Given the description of an element on the screen output the (x, y) to click on. 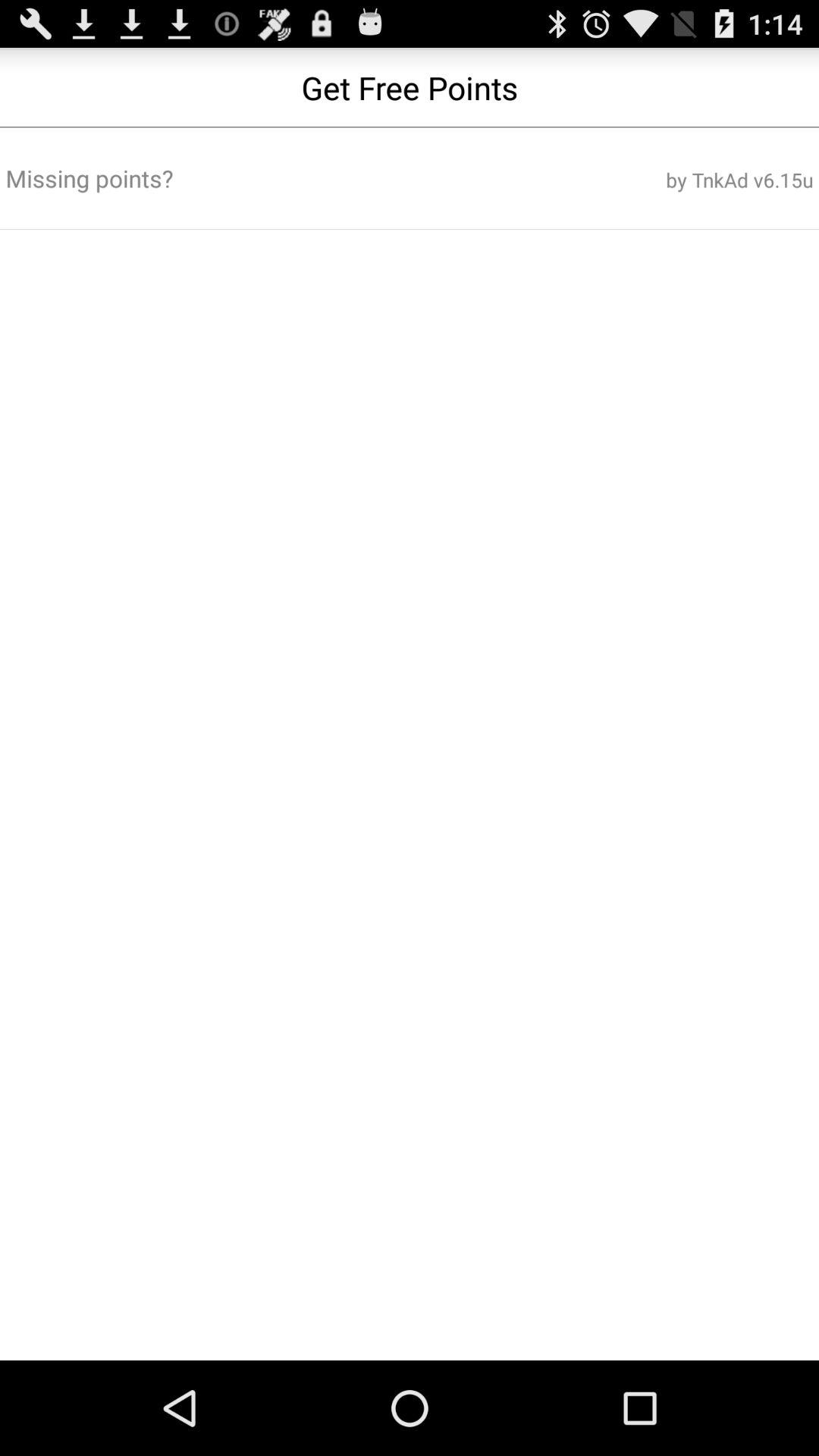
scroll to missing points? item (273, 178)
